Given the description of an element on the screen output the (x, y) to click on. 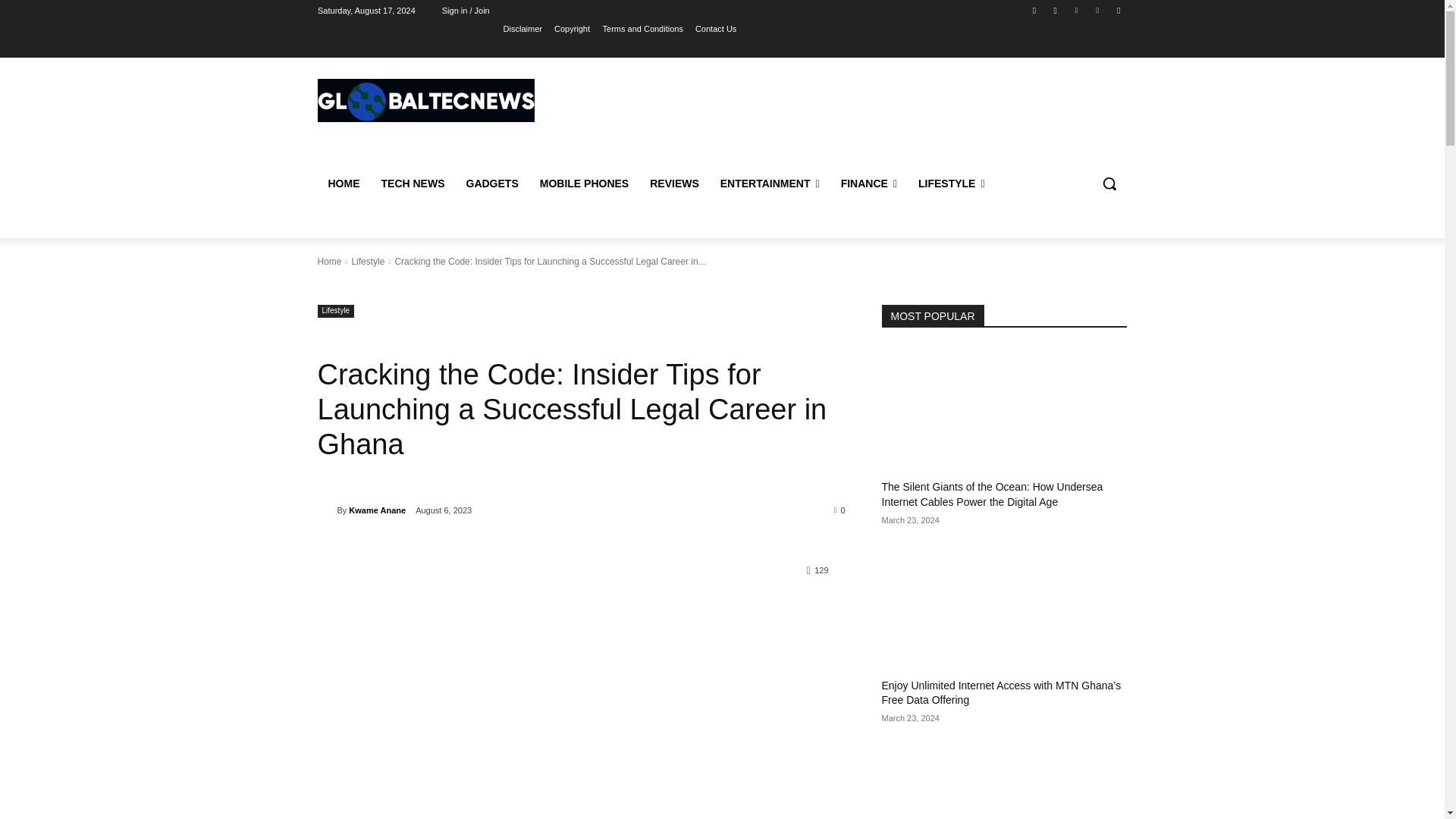
Disclaimer (522, 28)
Twitter (1075, 9)
Terms and Conditions (642, 28)
Youtube (1117, 9)
Vimeo (1097, 9)
Contact Us (715, 28)
Copyright (571, 28)
Facebook (1034, 9)
View all posts in Lifestyle (367, 261)
Instagram (1055, 9)
